Given the description of an element on the screen output the (x, y) to click on. 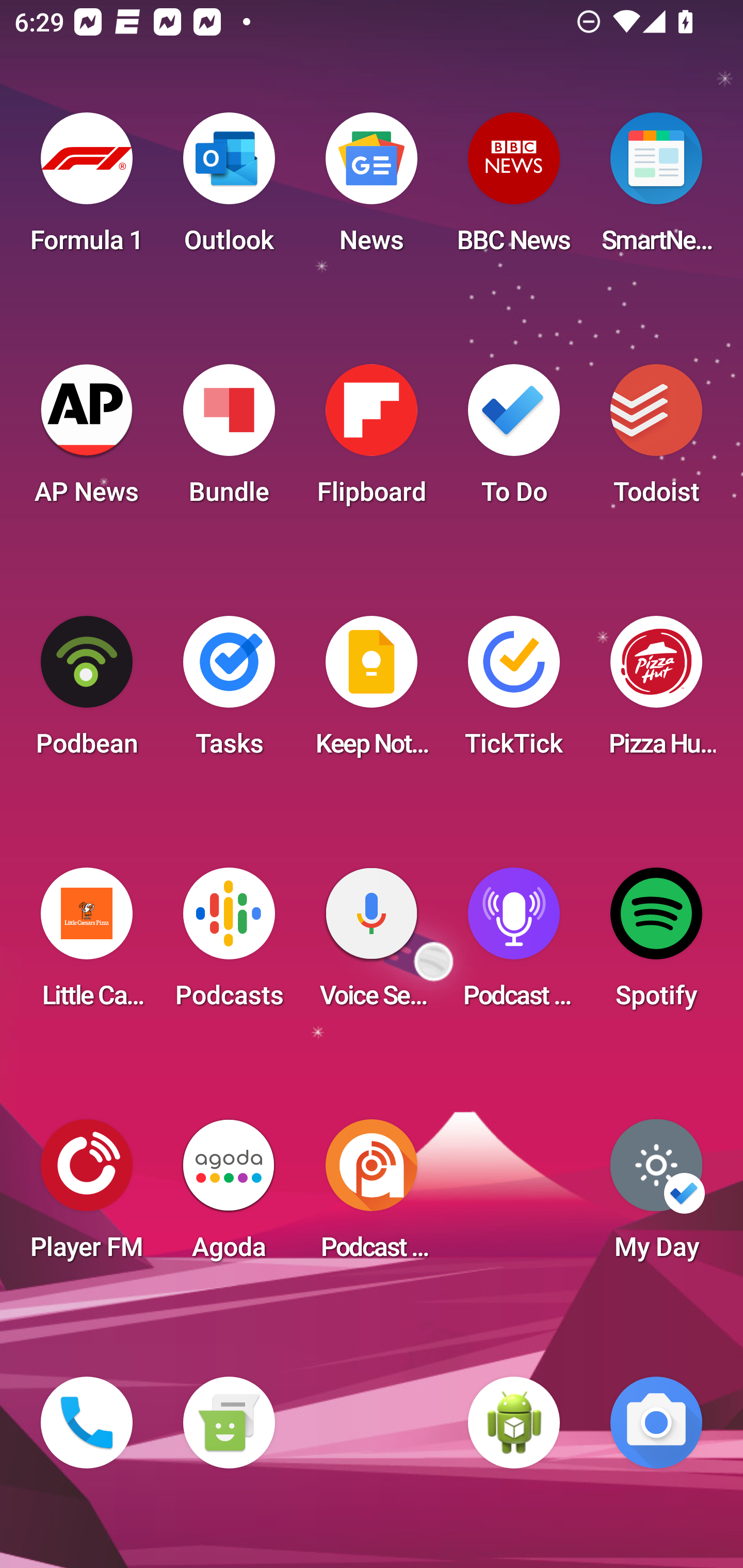
Formula 1 (86, 188)
Outlook (228, 188)
News (371, 188)
BBC News (513, 188)
SmartNews (656, 188)
AP News (86, 440)
Bundle (228, 440)
Flipboard (371, 440)
To Do (513, 440)
Todoist (656, 440)
Podbean (86, 692)
Tasks (228, 692)
Keep Notes (371, 692)
TickTick (513, 692)
Pizza Hut HK & Macau (656, 692)
Little Caesars Pizza (86, 943)
Podcasts (228, 943)
Voice Search (371, 943)
Podcast Player (513, 943)
Spotify (656, 943)
Player FM (86, 1195)
Agoda (228, 1195)
Podcast Addict (371, 1195)
My Day (656, 1195)
Phone (86, 1422)
Messaging (228, 1422)
WebView Browser Tester (513, 1422)
Camera (656, 1422)
